Given the description of an element on the screen output the (x, y) to click on. 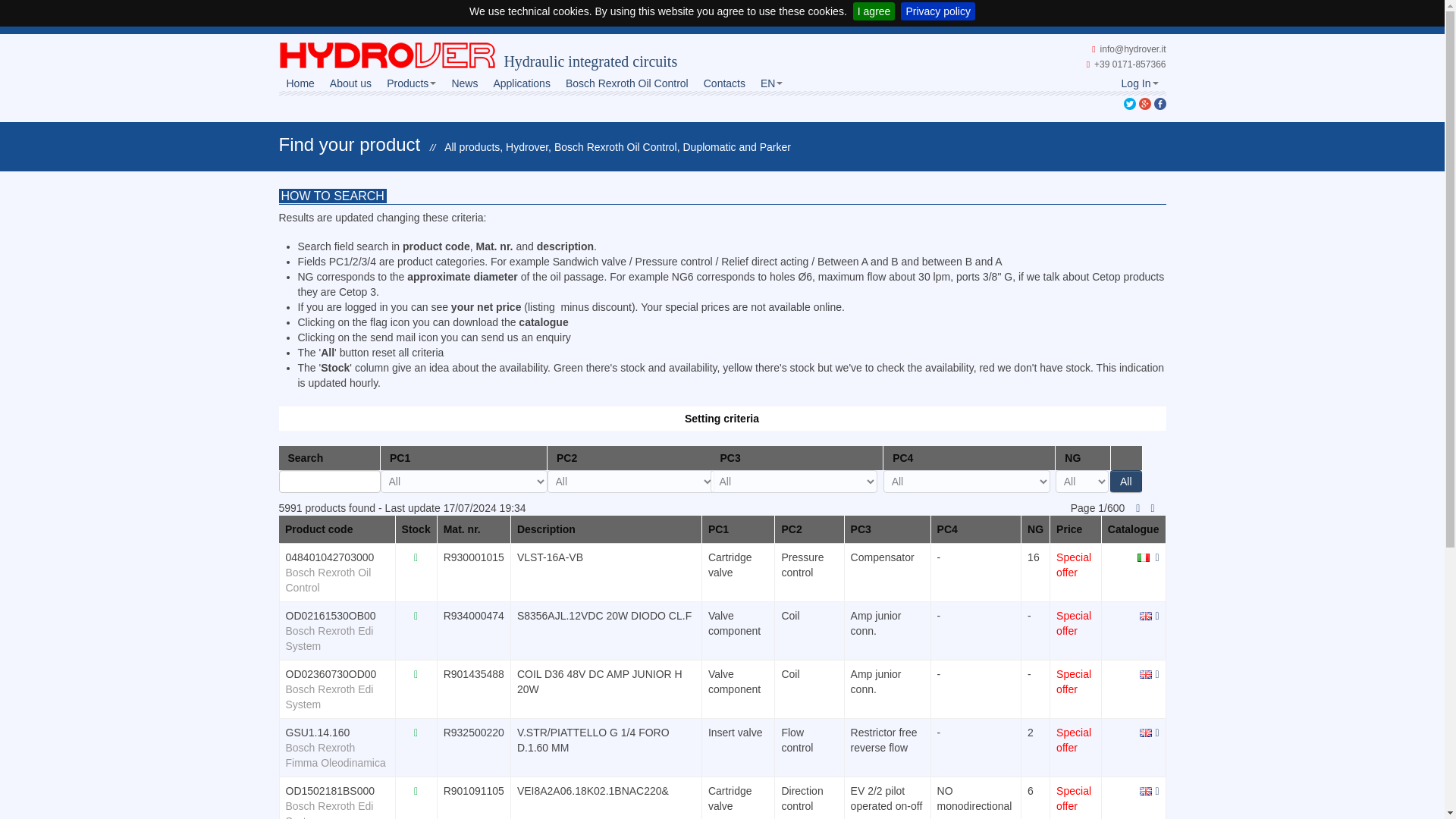
Tweet (1129, 102)
Download pdf (1145, 732)
Privacy policy (938, 11)
All (1125, 481)
News (464, 81)
Send an offer request (1156, 556)
Condividi su Facebook (1160, 102)
Send an offer request (1156, 789)
Products (411, 81)
Download pdf (1145, 789)
Bosch Rexroth Oil Control (626, 81)
Send an offer request (1156, 673)
Log In (1139, 81)
Download pdf (1143, 556)
Applications (520, 81)
